Given the description of an element on the screen output the (x, y) to click on. 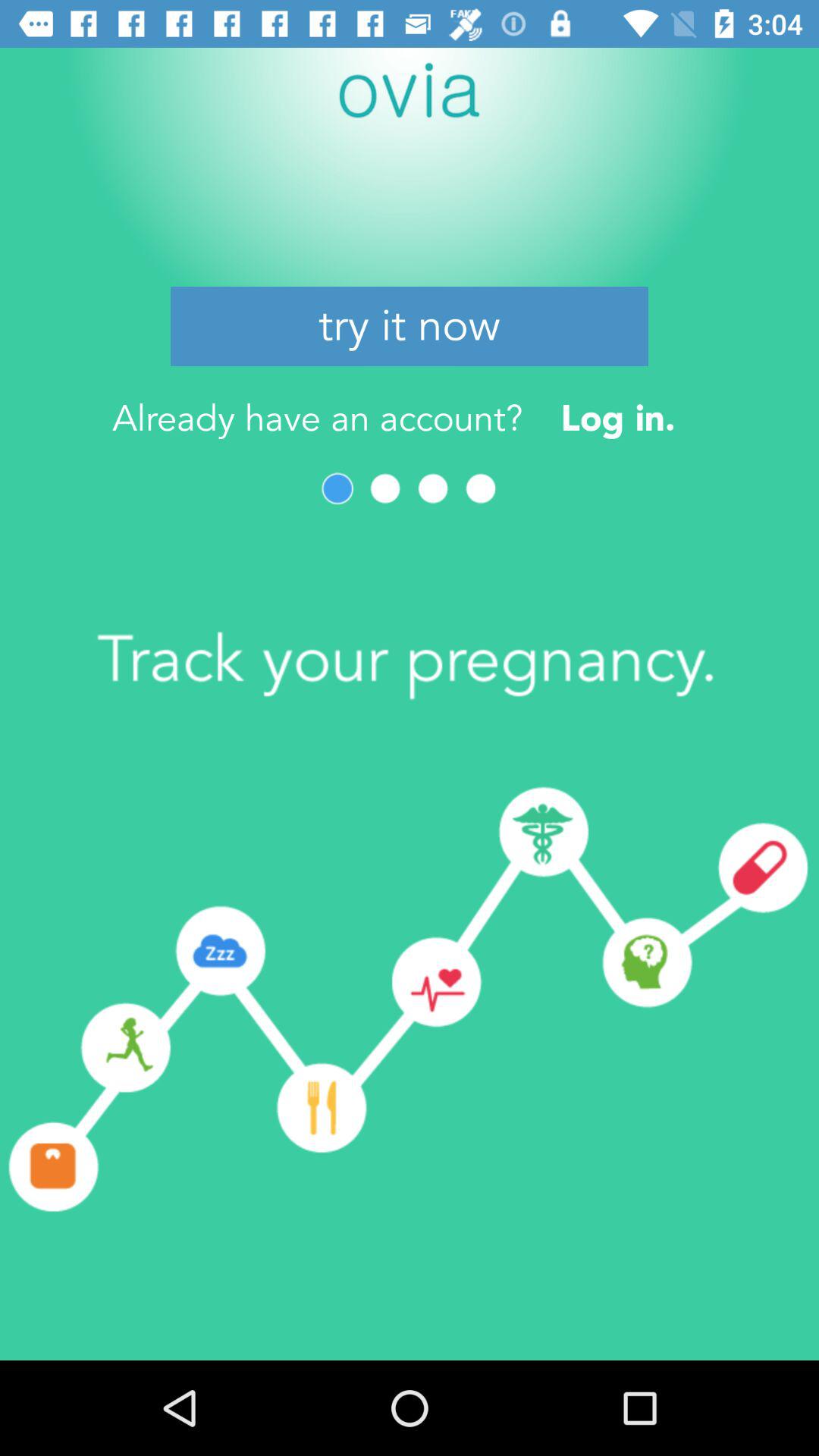
swipe to the try it now icon (409, 326)
